Given the description of an element on the screen output the (x, y) to click on. 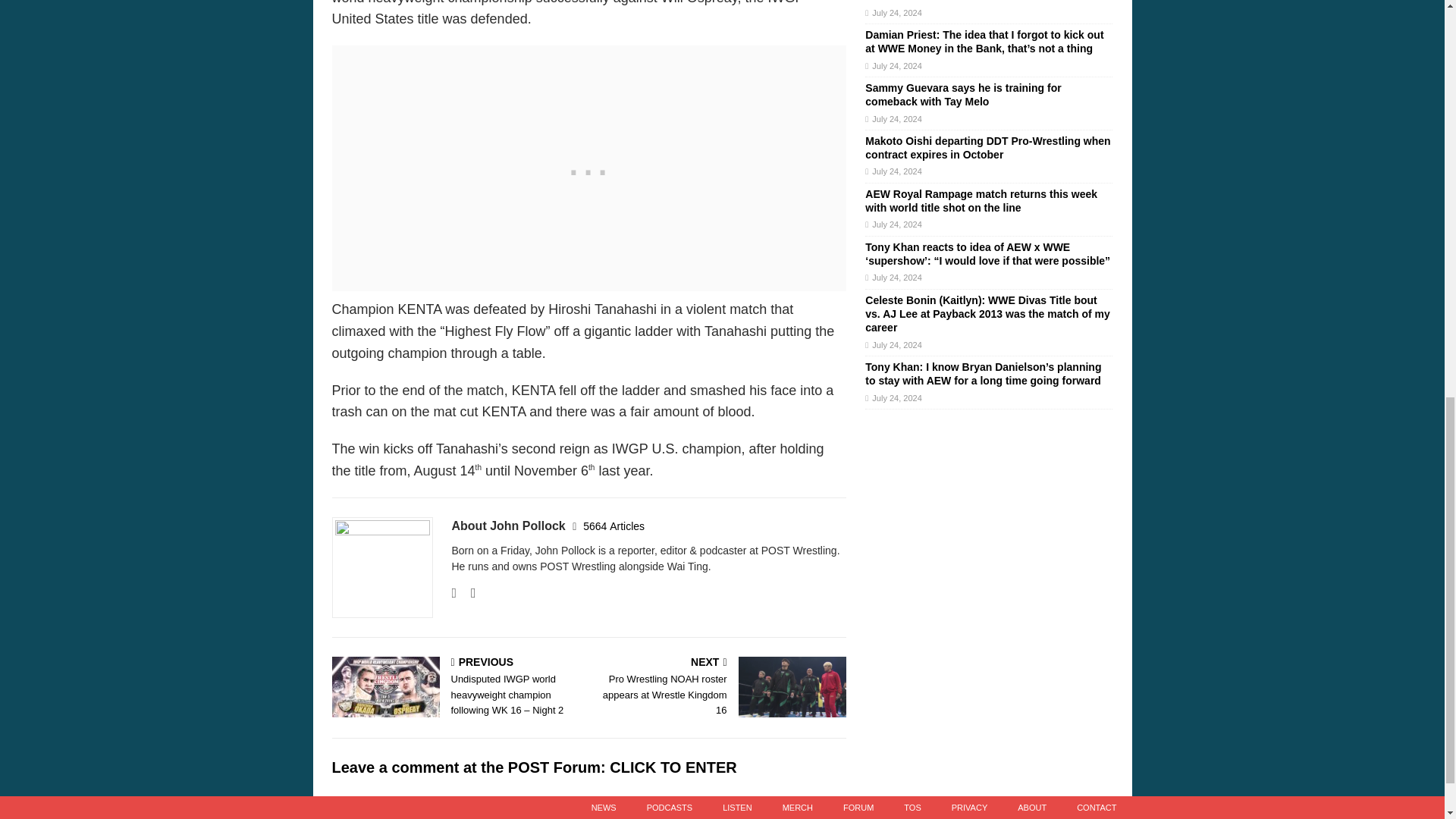
More articles written by John Pollock' (614, 526)
Follow John Pollock on Instagram (468, 592)
